Given the description of an element on the screen output the (x, y) to click on. 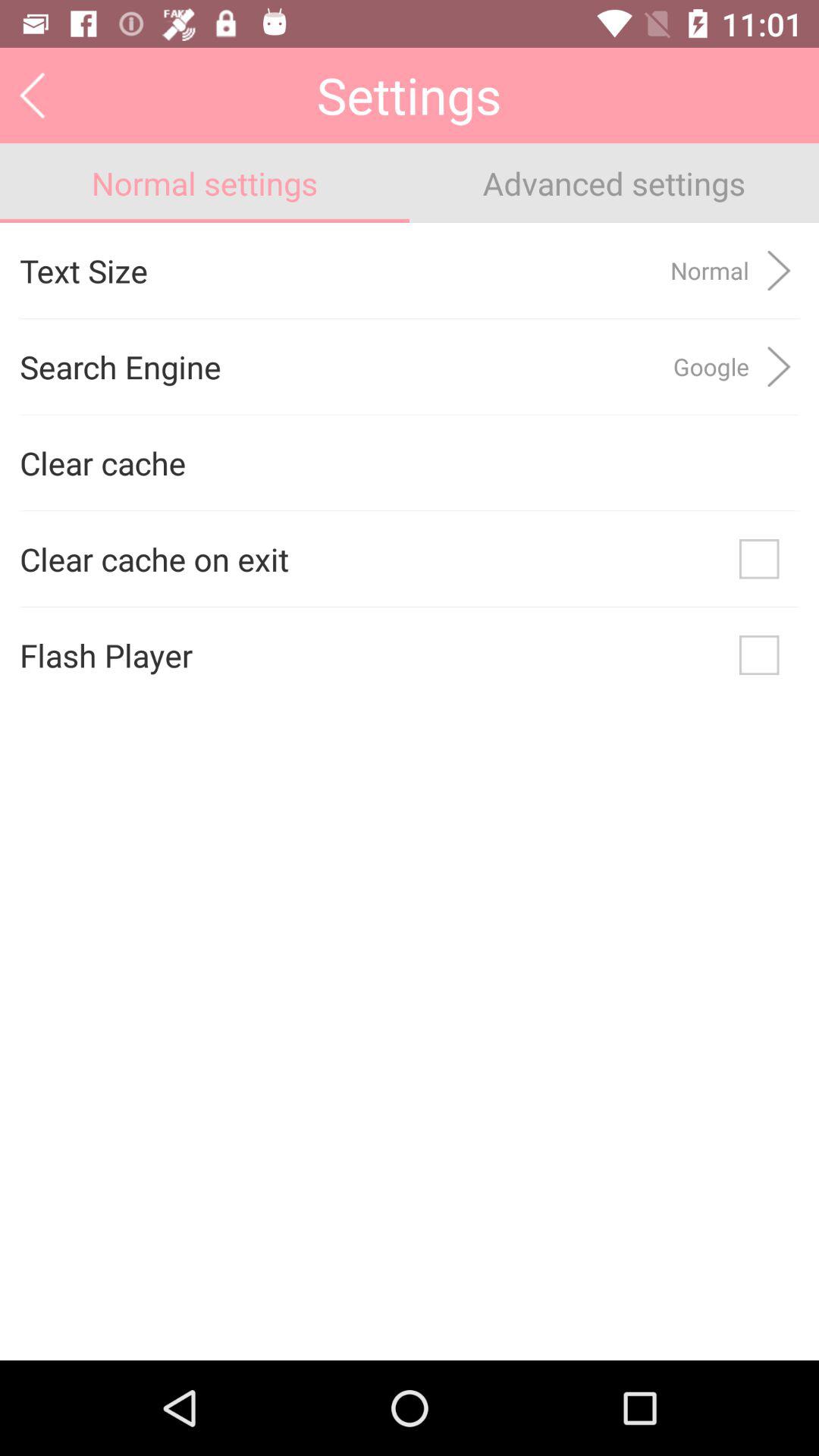
turn off icon to the right of the clear cache on icon (759, 558)
